Given the description of an element on the screen output the (x, y) to click on. 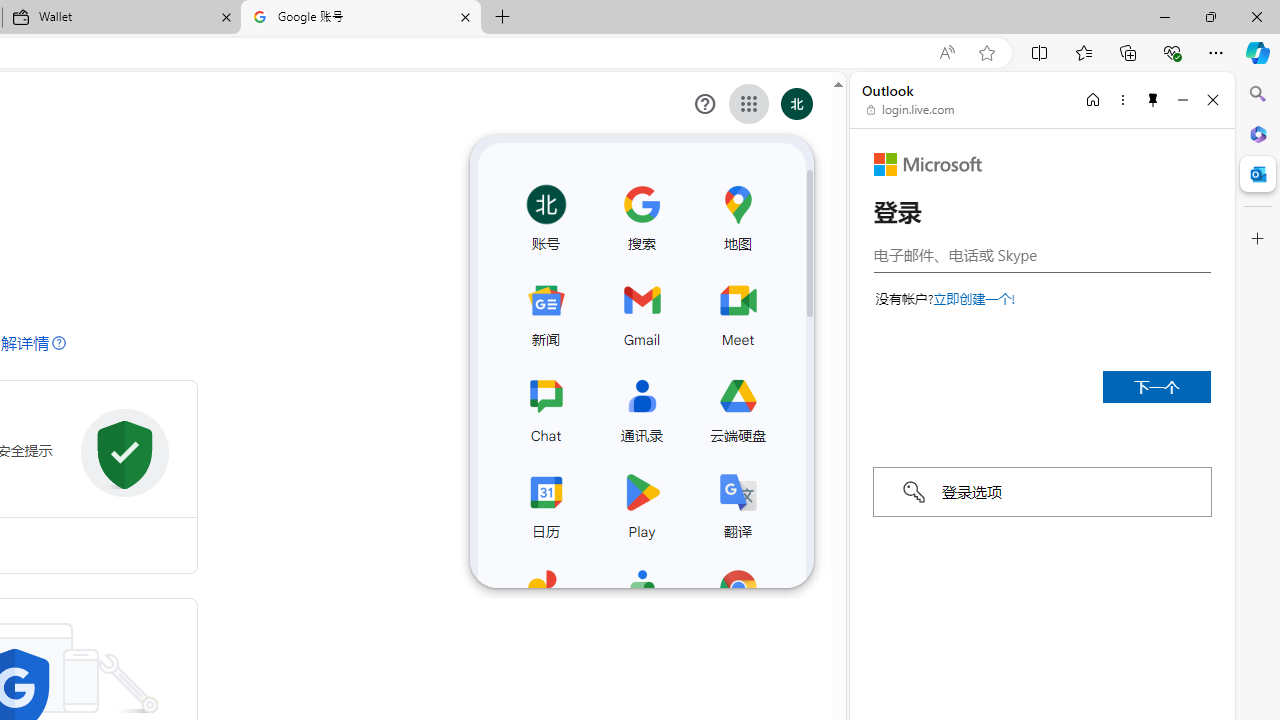
Class: gb_E (749, 103)
